Given the description of an element on the screen output the (x, y) to click on. 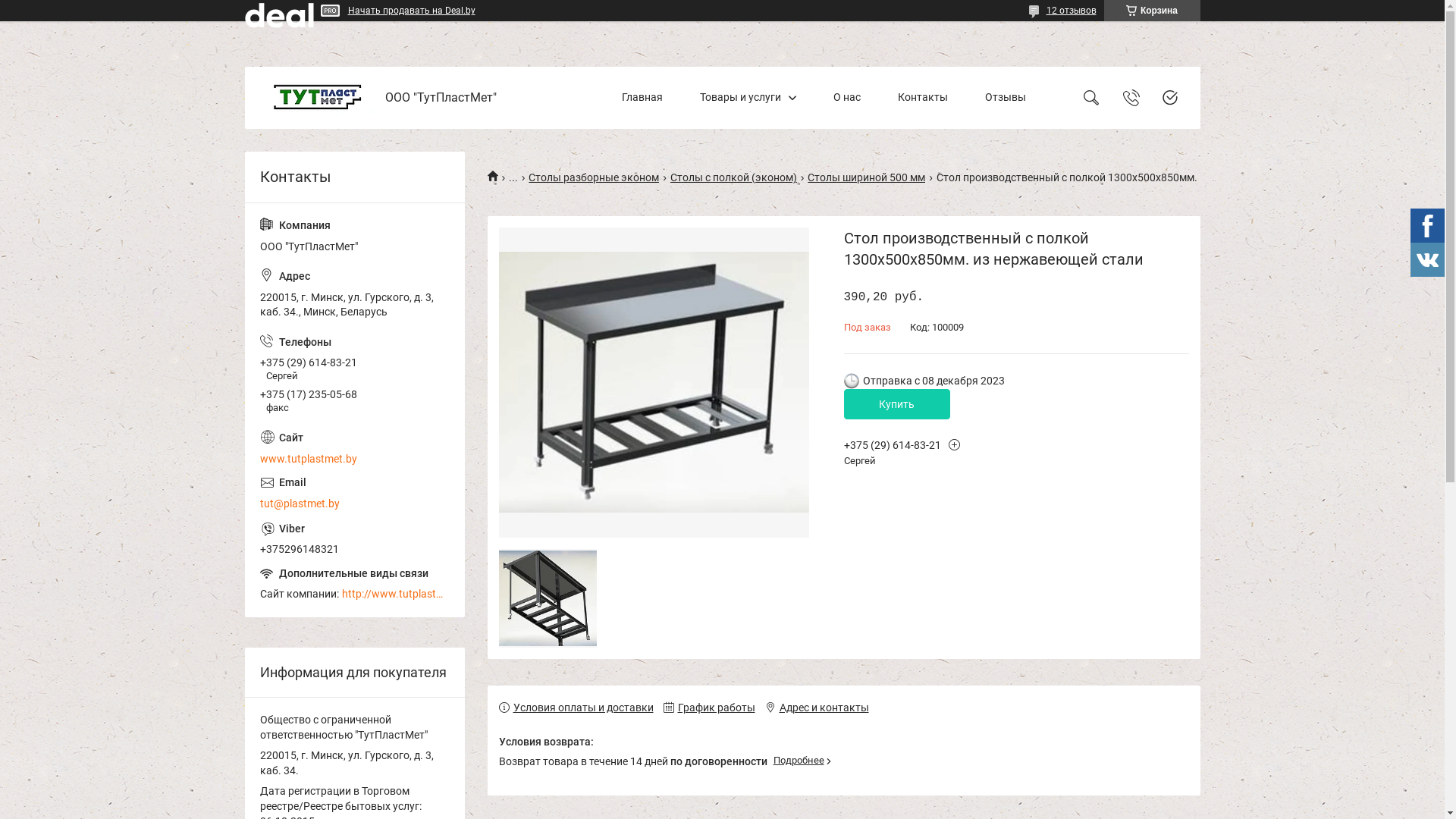
http://www.tutplastmet.by Element type: text (394, 594)
tut@plastmet.by Element type: text (353, 493)
www.tutplastmet.by Element type: text (353, 447)
